Given the description of an element on the screen output the (x, y) to click on. 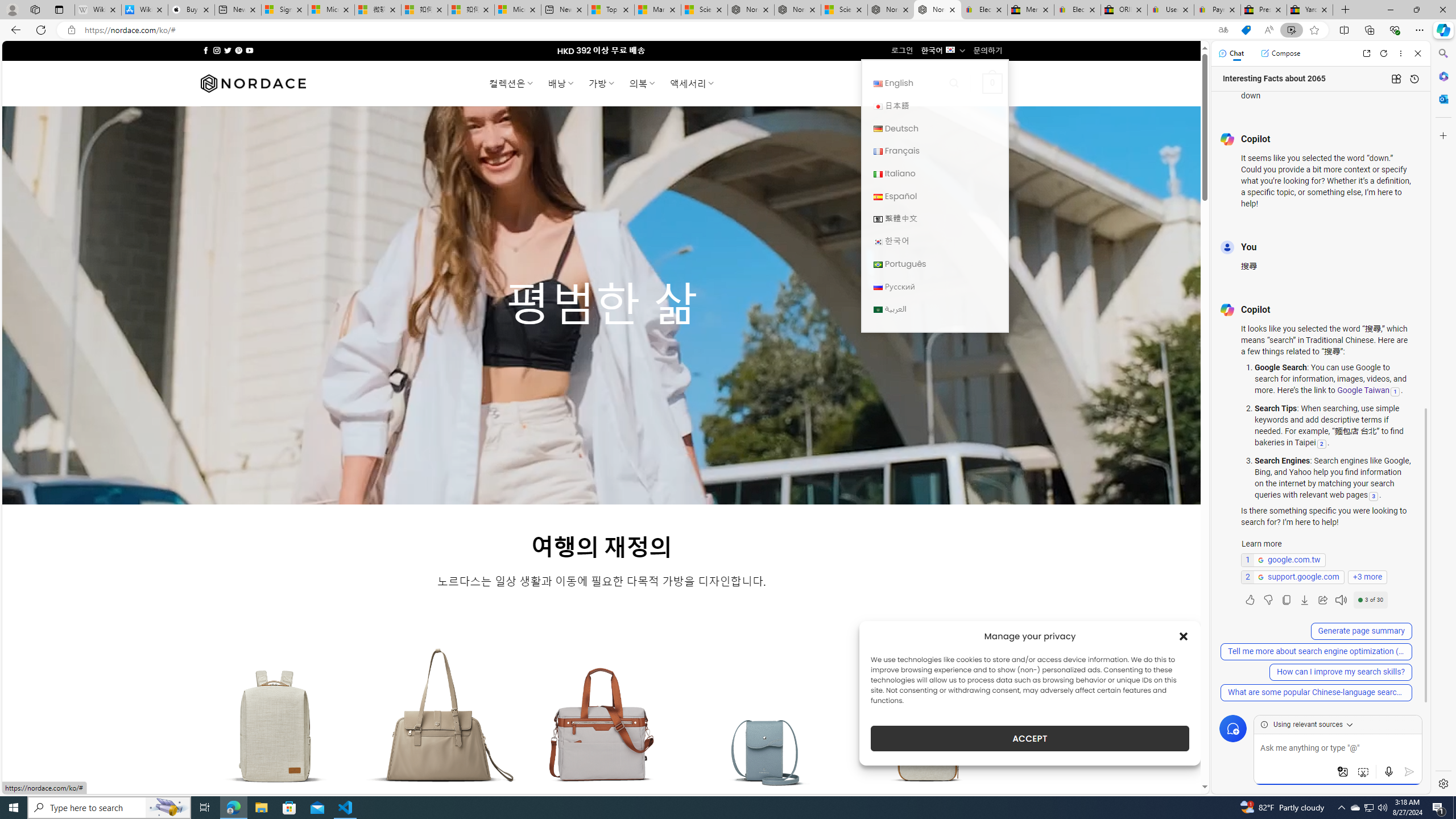
Follow on Pinterest (237, 50)
